Given the description of an element on the screen output the (x, y) to click on. 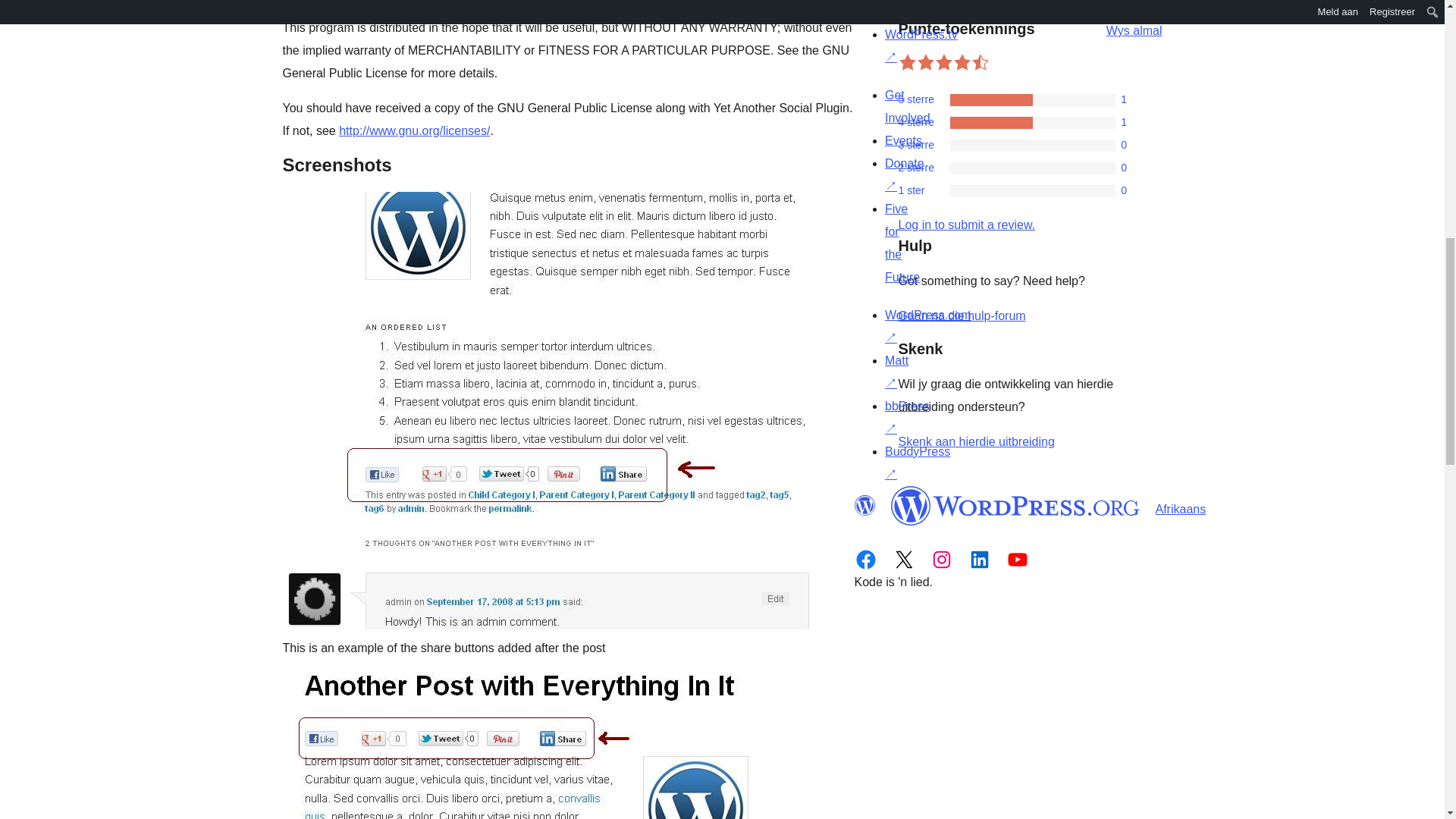
Log in to WordPress.org (966, 224)
WordPress.org (1014, 505)
WordPress.org (864, 505)
